Given the description of an element on the screen output the (x, y) to click on. 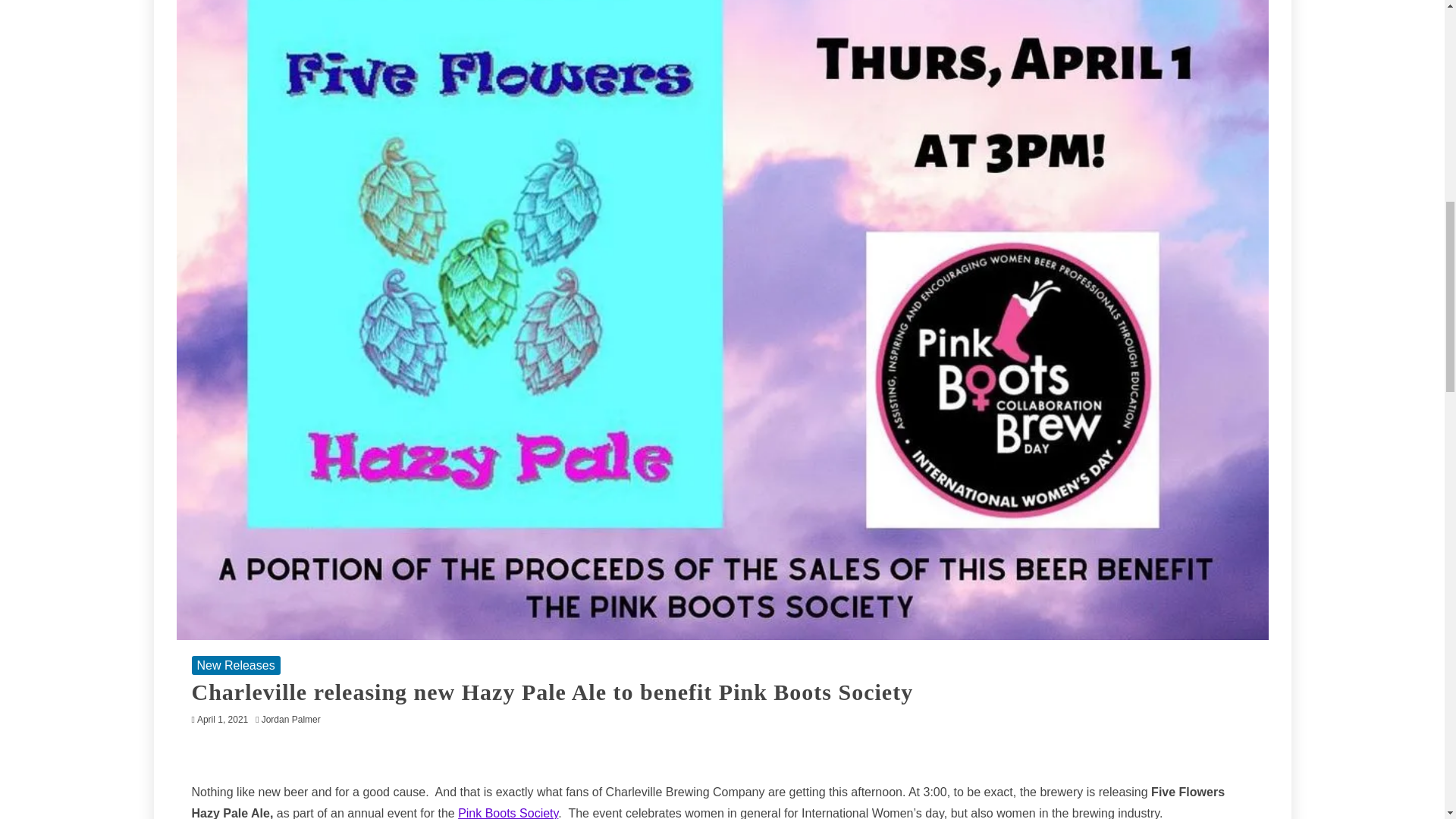
April 1, 2021 (221, 719)
Jordan Palmer (295, 719)
Pink Boots Society (507, 812)
New Releases (234, 665)
